Given the description of an element on the screen output the (x, y) to click on. 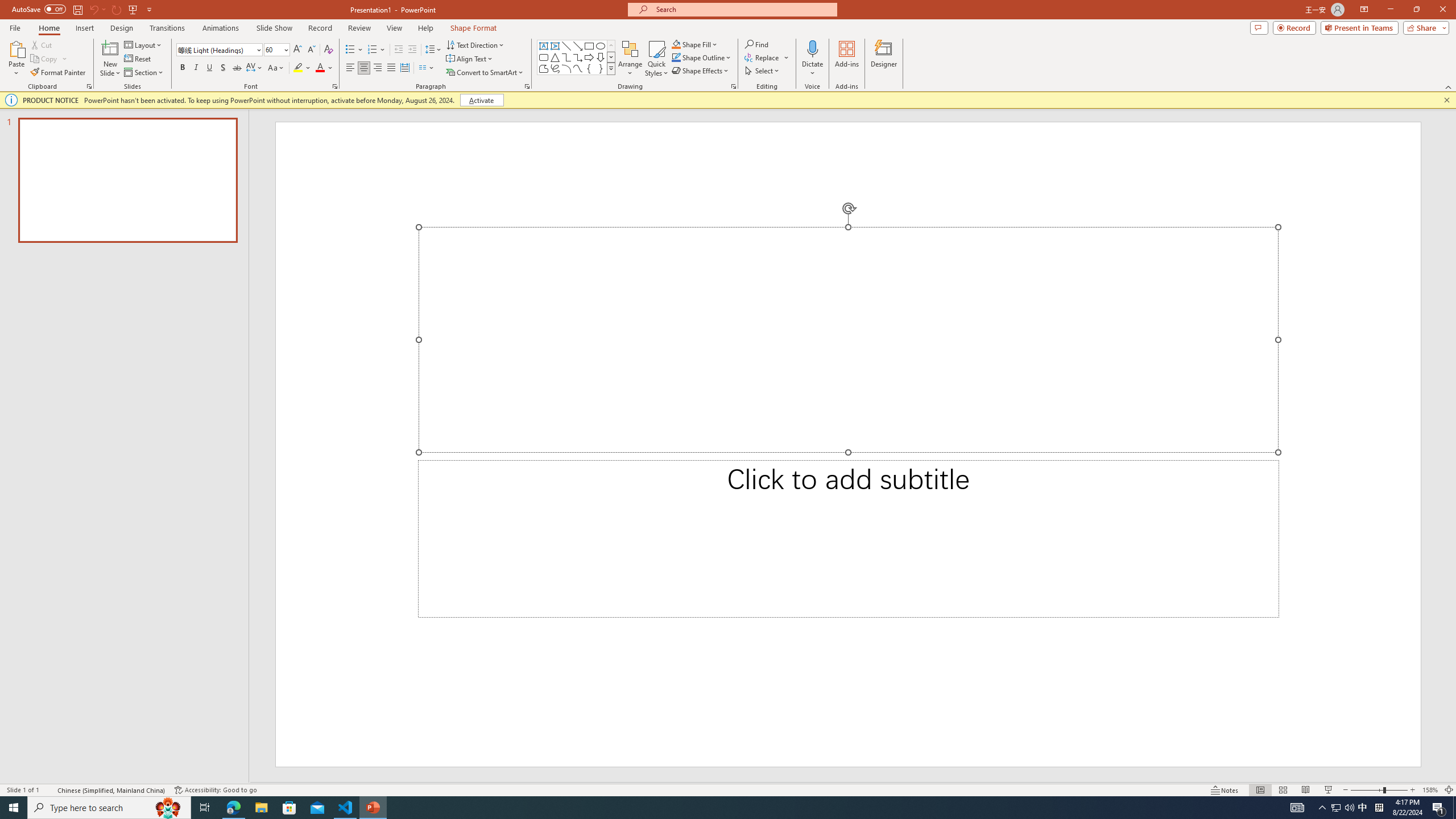
Right Brace (600, 68)
More Options (812, 68)
Shape Fill (694, 44)
Oval (600, 45)
Zoom to Fit  (1449, 790)
Quick Access Toolbar (82, 9)
Reset (138, 58)
Design (122, 28)
Customize Quick Access Toolbar (149, 9)
Bullets (354, 49)
Format Painter (58, 72)
File Tab (15, 27)
Restore Down (1416, 9)
